Given the description of an element on the screen output the (x, y) to click on. 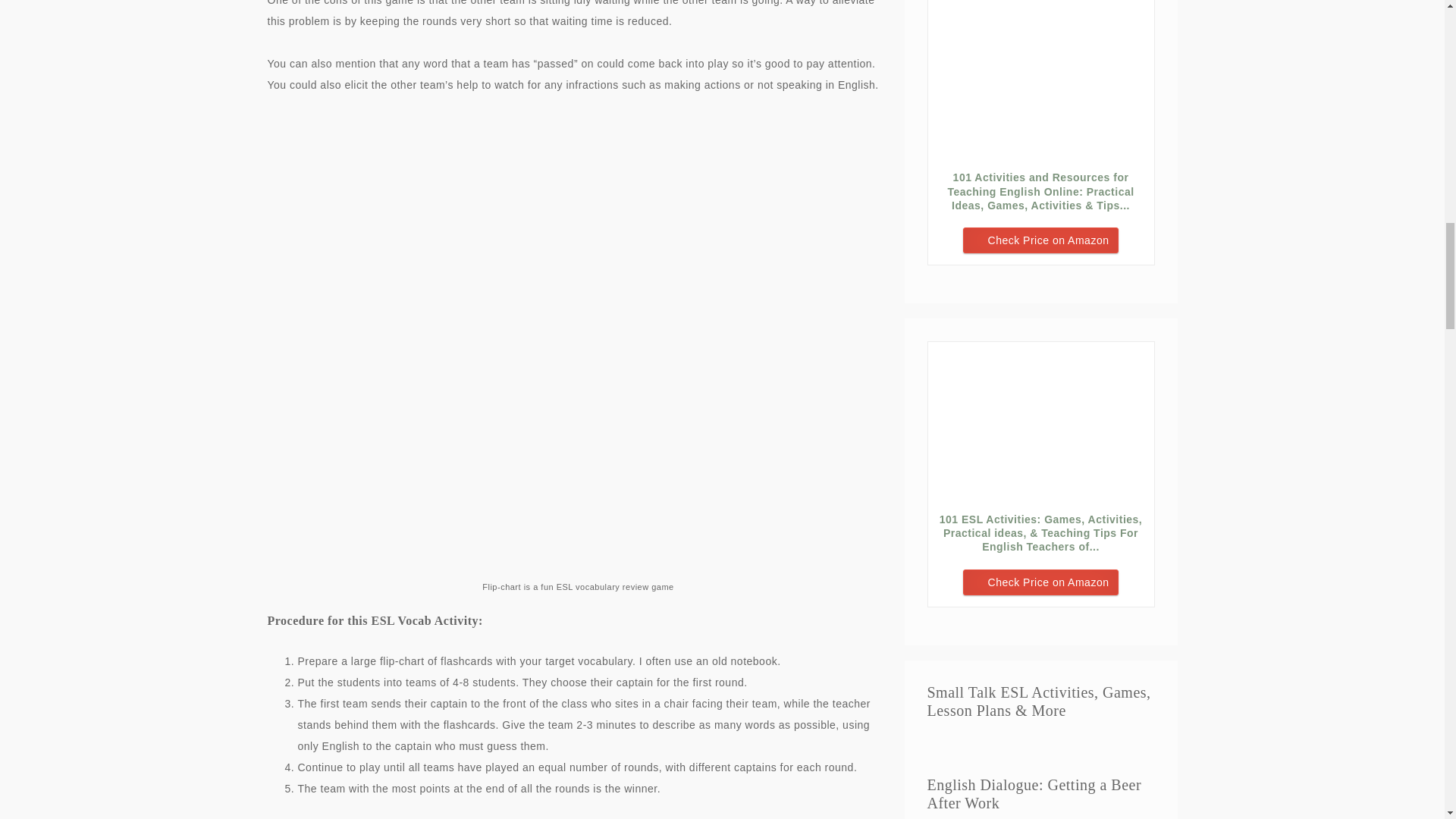
Check Price on Amazon (1040, 240)
